Given the description of an element on the screen output the (x, y) to click on. 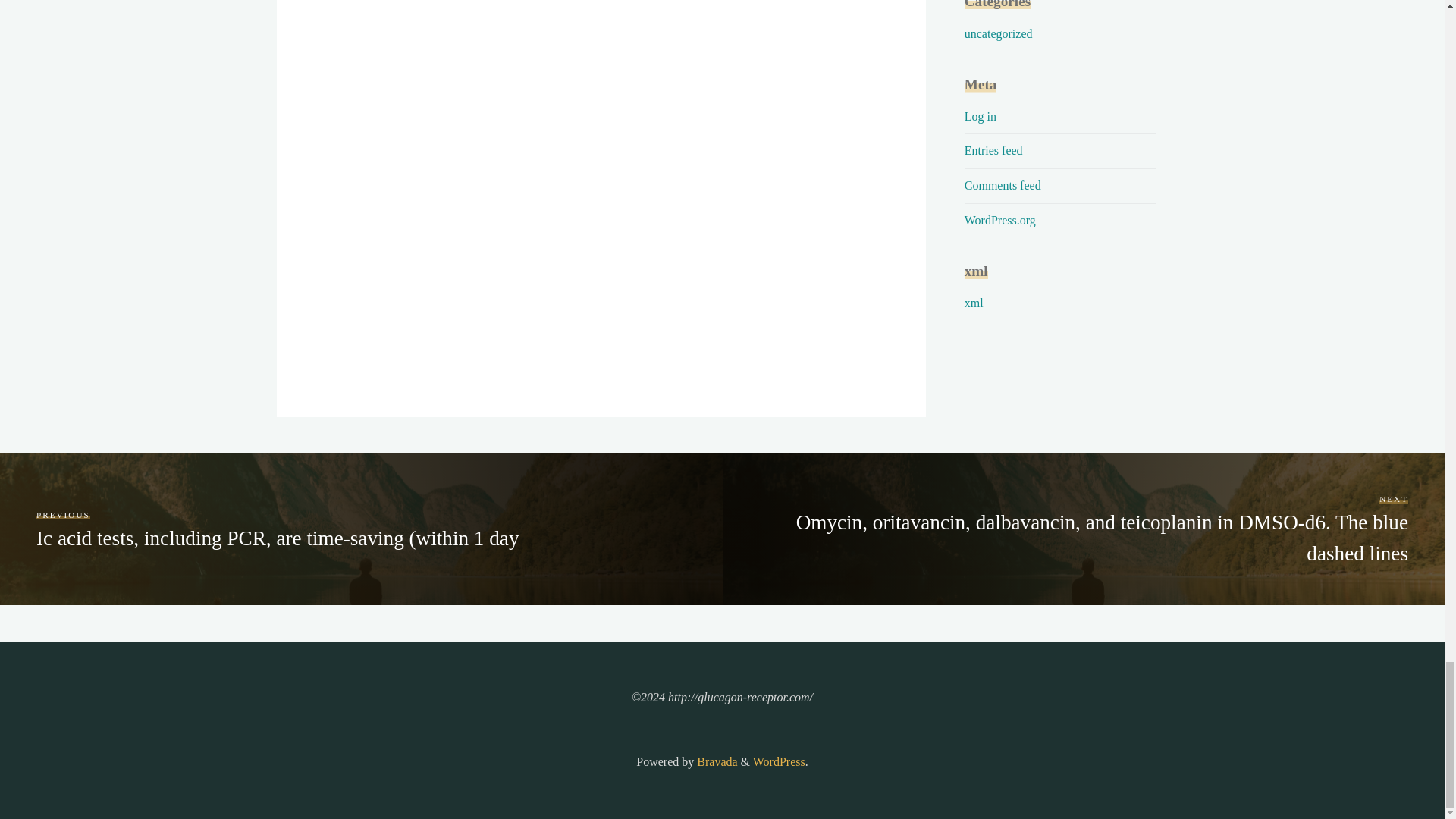
Semantic Personal Publishing Platform (778, 761)
Bravada WordPress Theme by Cryout Creations (715, 761)
